Given the description of an element on the screen output the (x, y) to click on. 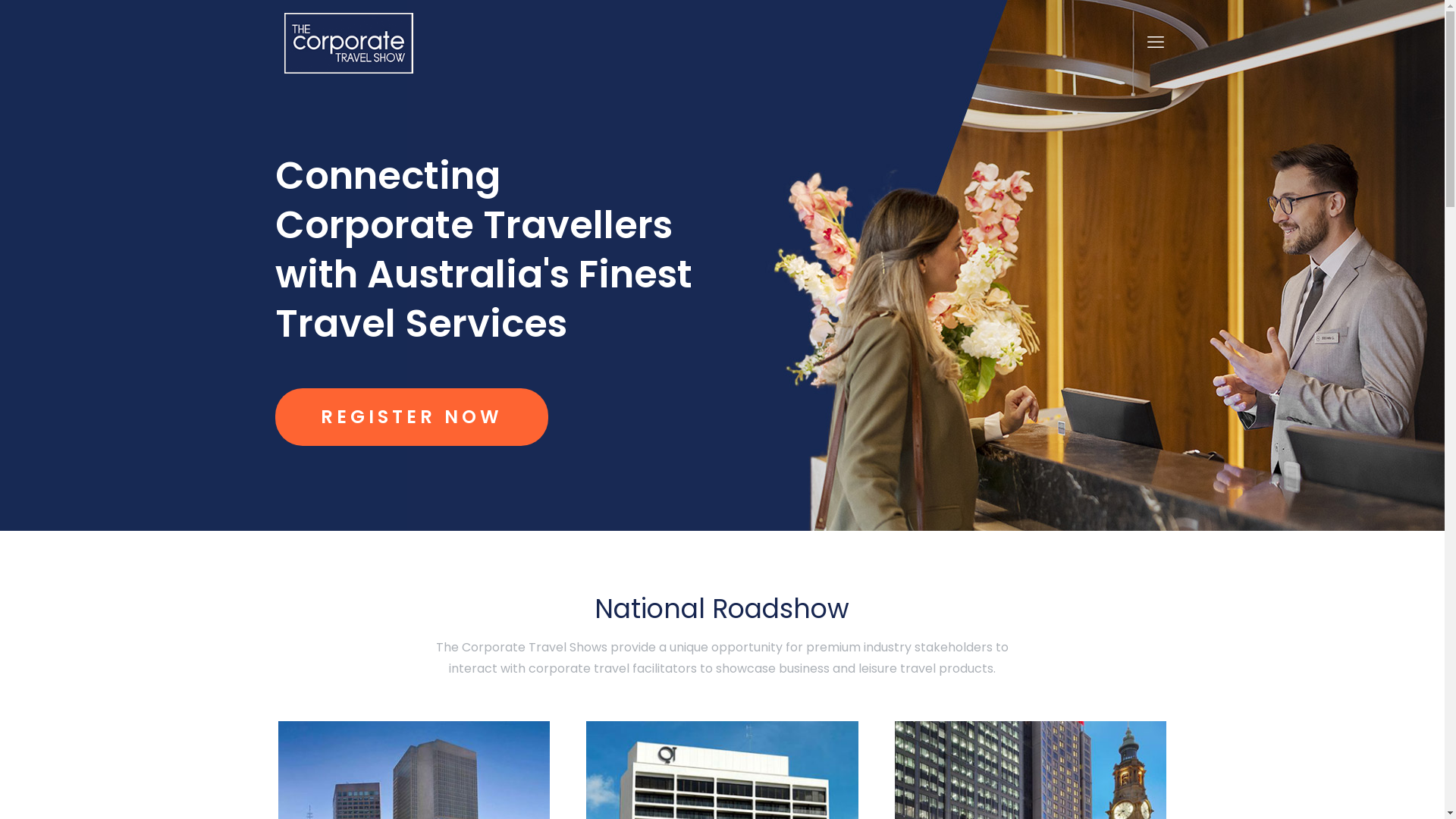
REGISTER NOW Element type: text (410, 416)
Corporate Travel Show Element type: hover (347, 42)
